Given the description of an element on the screen output the (x, y) to click on. 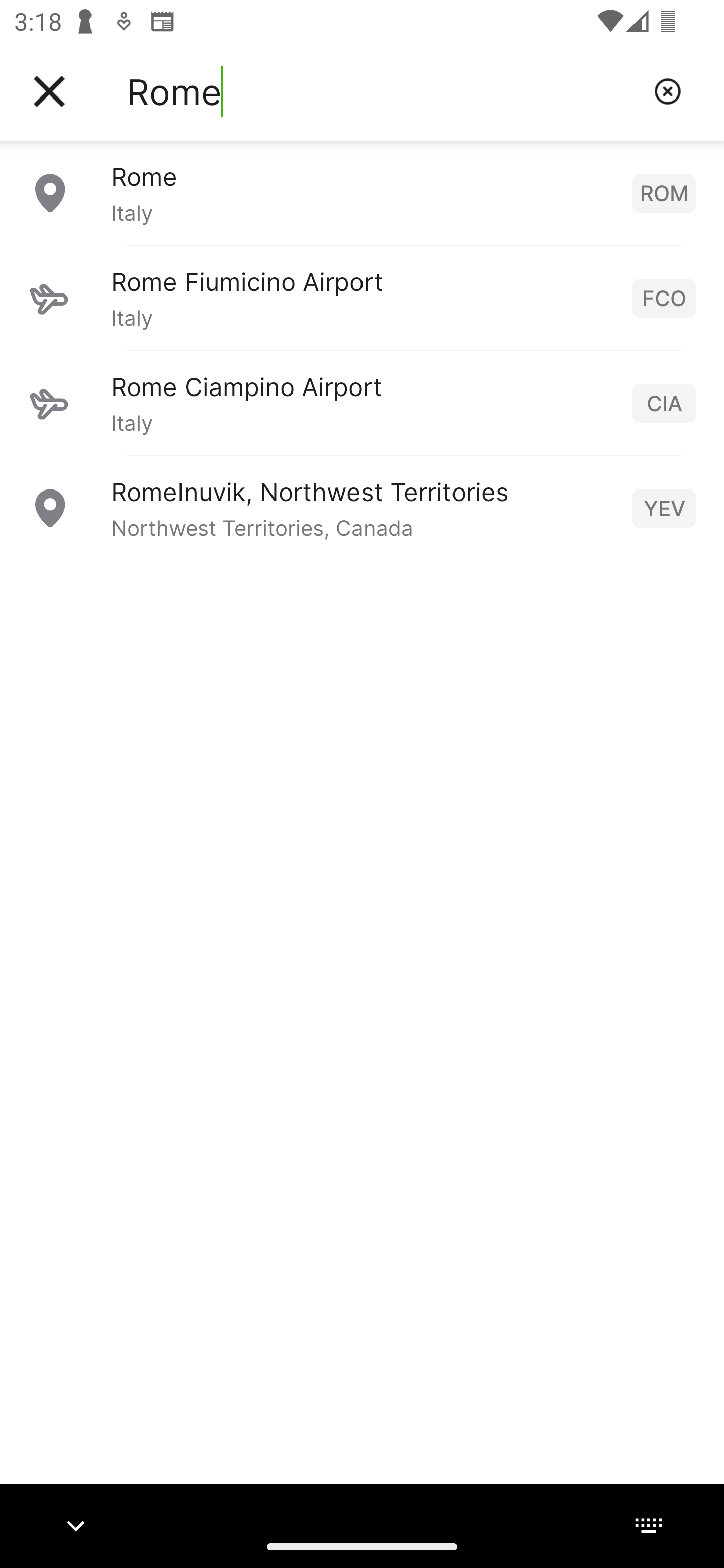
Rome (382, 91)
Rome Italy ROM (362, 192)
Rome Fiumicino Airport Italy FCO (362, 297)
Rome Ciampino Airport Italy CIA (362, 402)
